Given the description of an element on the screen output the (x, y) to click on. 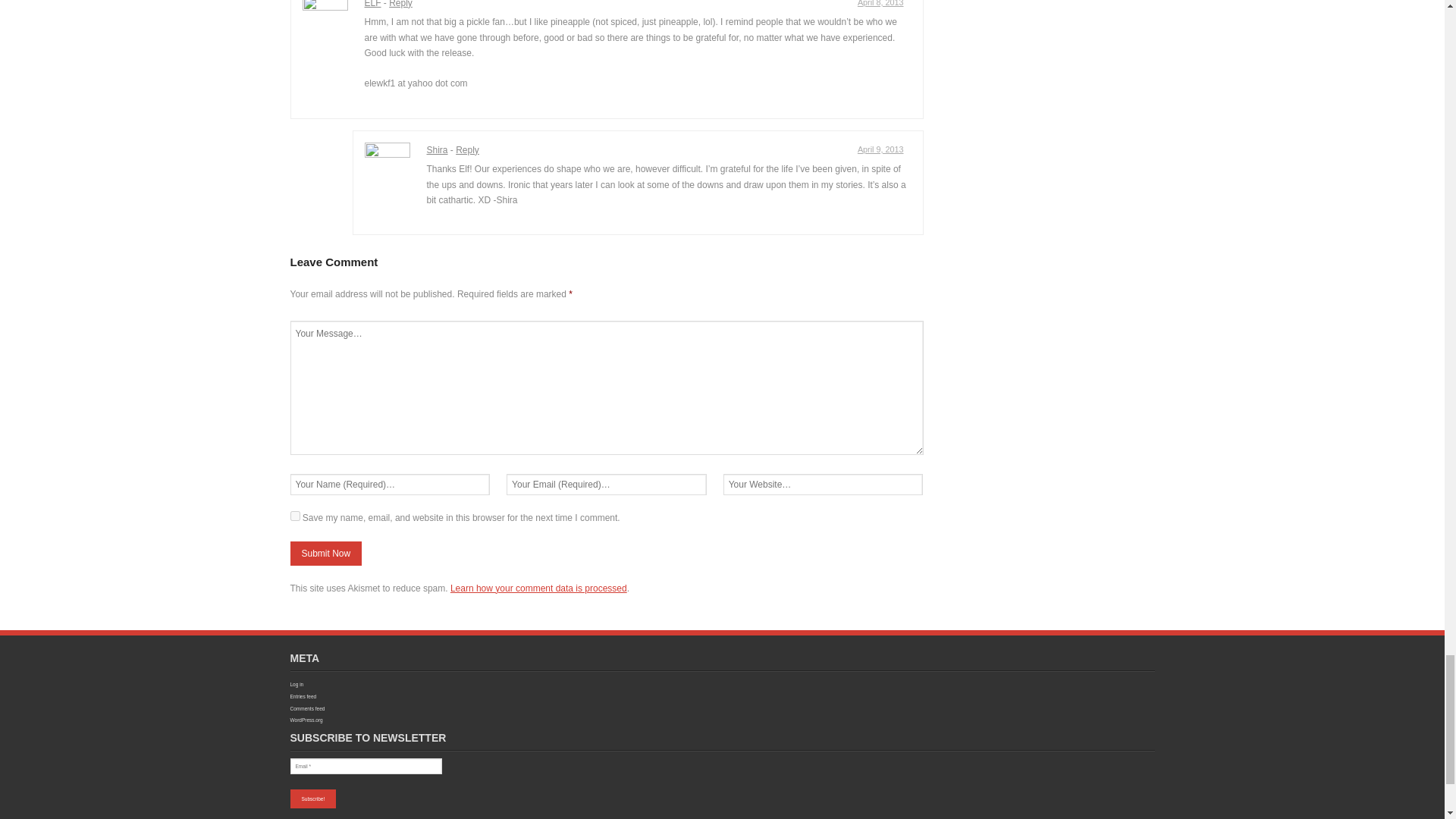
yes (294, 515)
Email (365, 765)
Subscribe! (312, 798)
Submit Now (325, 553)
